Given the description of an element on the screen output the (x, y) to click on. 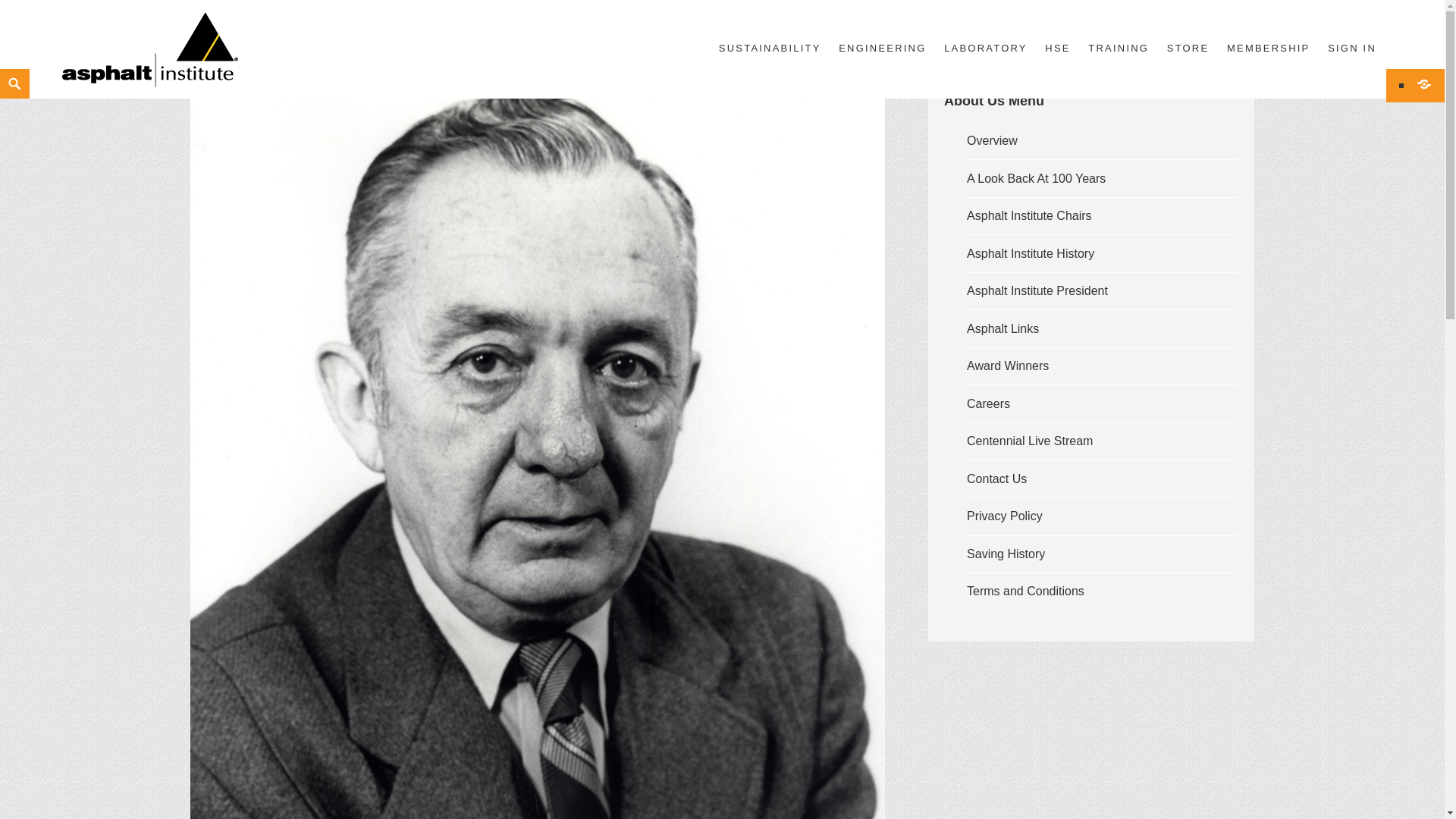
Terms and Conditions (1025, 590)
STORE (1188, 49)
Centennial Live Stream (1029, 440)
Contact Us (996, 478)
Asphalt Institute Chairs (1029, 215)
ENGINEERING (882, 49)
Asphalt Links (1002, 328)
A Look Back At 100 Years (1035, 178)
Careers (988, 403)
SUSTAINABILITY (770, 49)
Asphalt Institute President (1037, 290)
MEMBERSHIP (1268, 49)
Saving History (1005, 553)
